Given the description of an element on the screen output the (x, y) to click on. 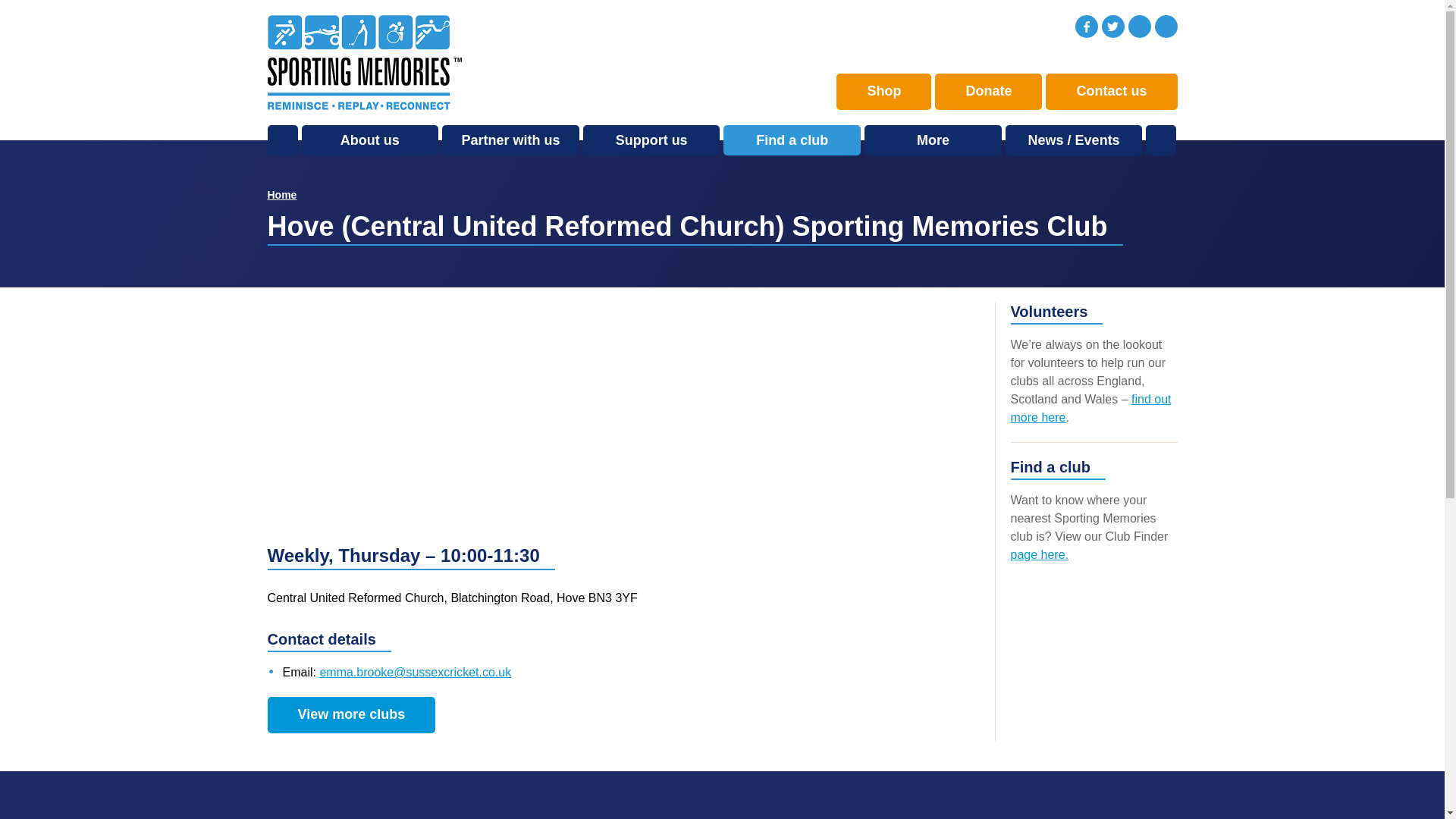
Support us (651, 140)
Contact us (1110, 91)
Donate (988, 91)
More (932, 140)
Partner with us (510, 140)
Shop (883, 91)
About us (370, 140)
Find a club (791, 140)
